Given the description of an element on the screen output the (x, y) to click on. 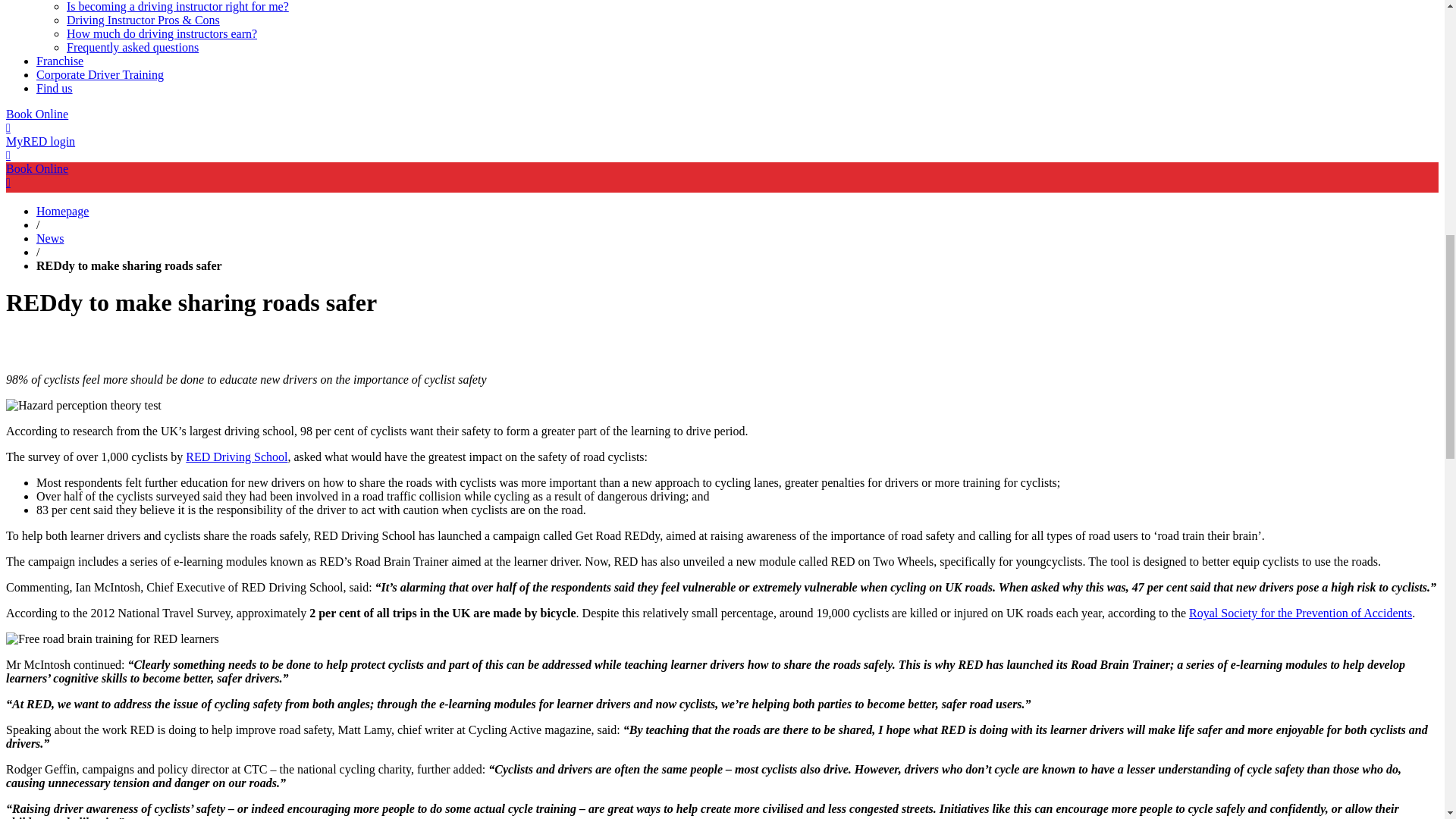
Homepage (62, 210)
REDdy to make sharing roads safer (129, 265)
News (50, 237)
